Given the description of an element on the screen output the (x, y) to click on. 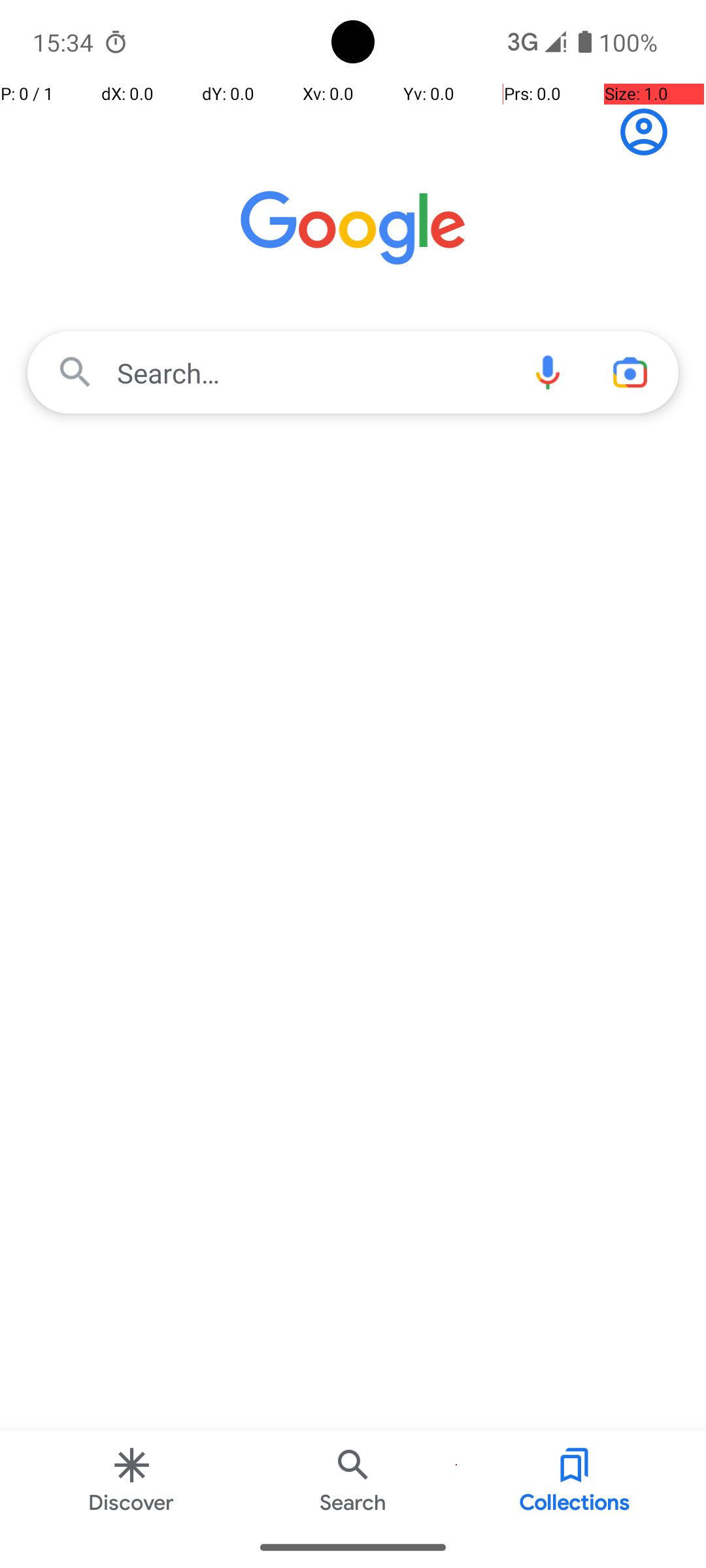
Sign in Element type: android.widget.FrameLayout (650, 131)
Search… Element type: android.view.ViewGroup (352, 372)
Camera search Element type: android.widget.ImageButton (629, 372)
Discover Element type: android.widget.FrameLayout (131, 1478)
Collections Button Element type: android.widget.FrameLayout (574, 1478)
